Given the description of an element on the screen output the (x, y) to click on. 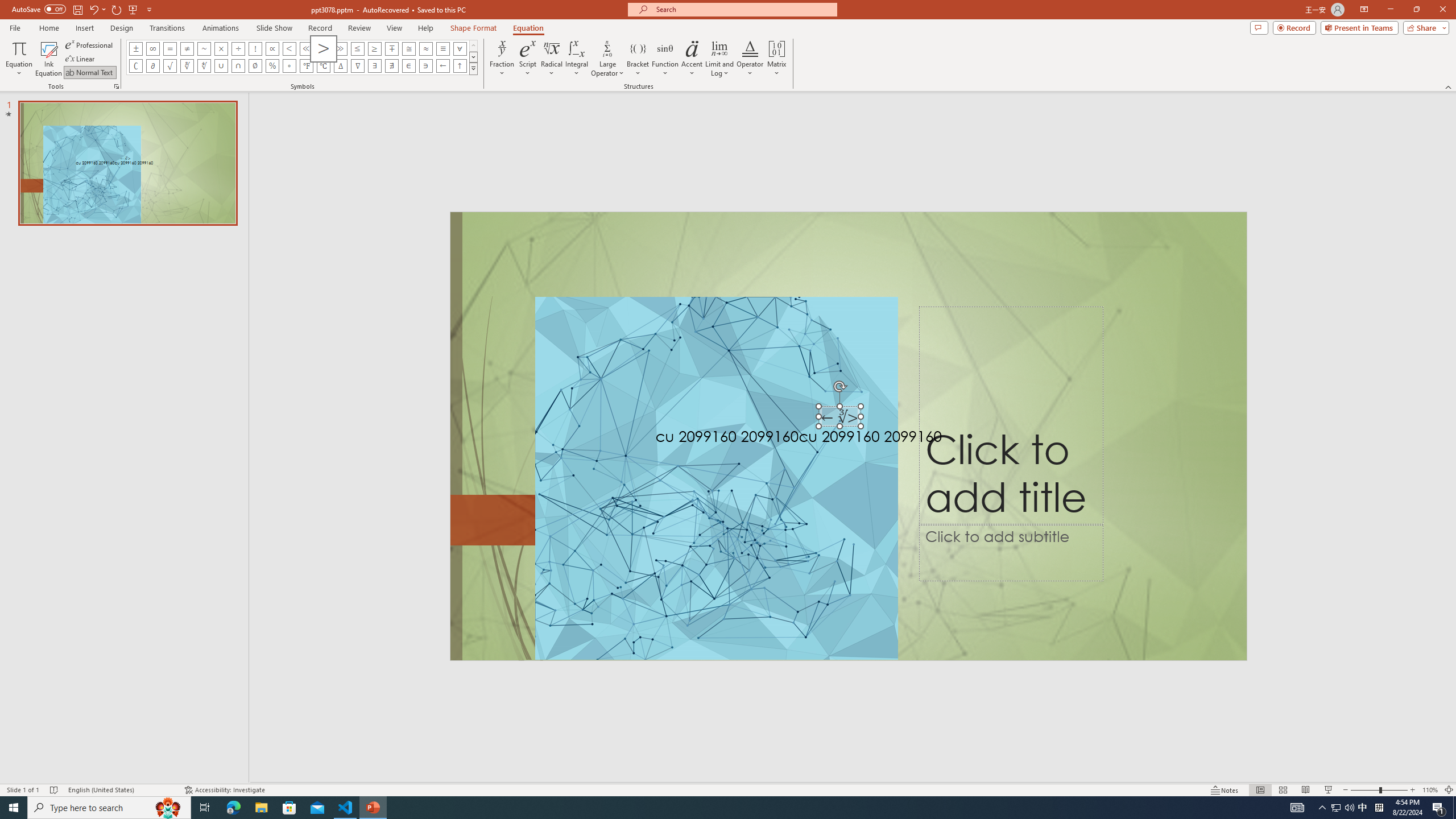
AutomationID: EquationSymbolsInsertGallery (302, 57)
Equation Symbol Union (221, 65)
Equation Symbol Multiplication Sign (221, 48)
Equation Symbol There Does Not Exist (391, 65)
Equation Symbol Up Arrow (459, 65)
Ink Equation (48, 58)
Bracket (638, 58)
Accent (691, 58)
Equation Symbol Percentage (272, 65)
Equation Symbols (472, 68)
Equation Symbol Contains as Member (425, 65)
